Given the description of an element on the screen output the (x, y) to click on. 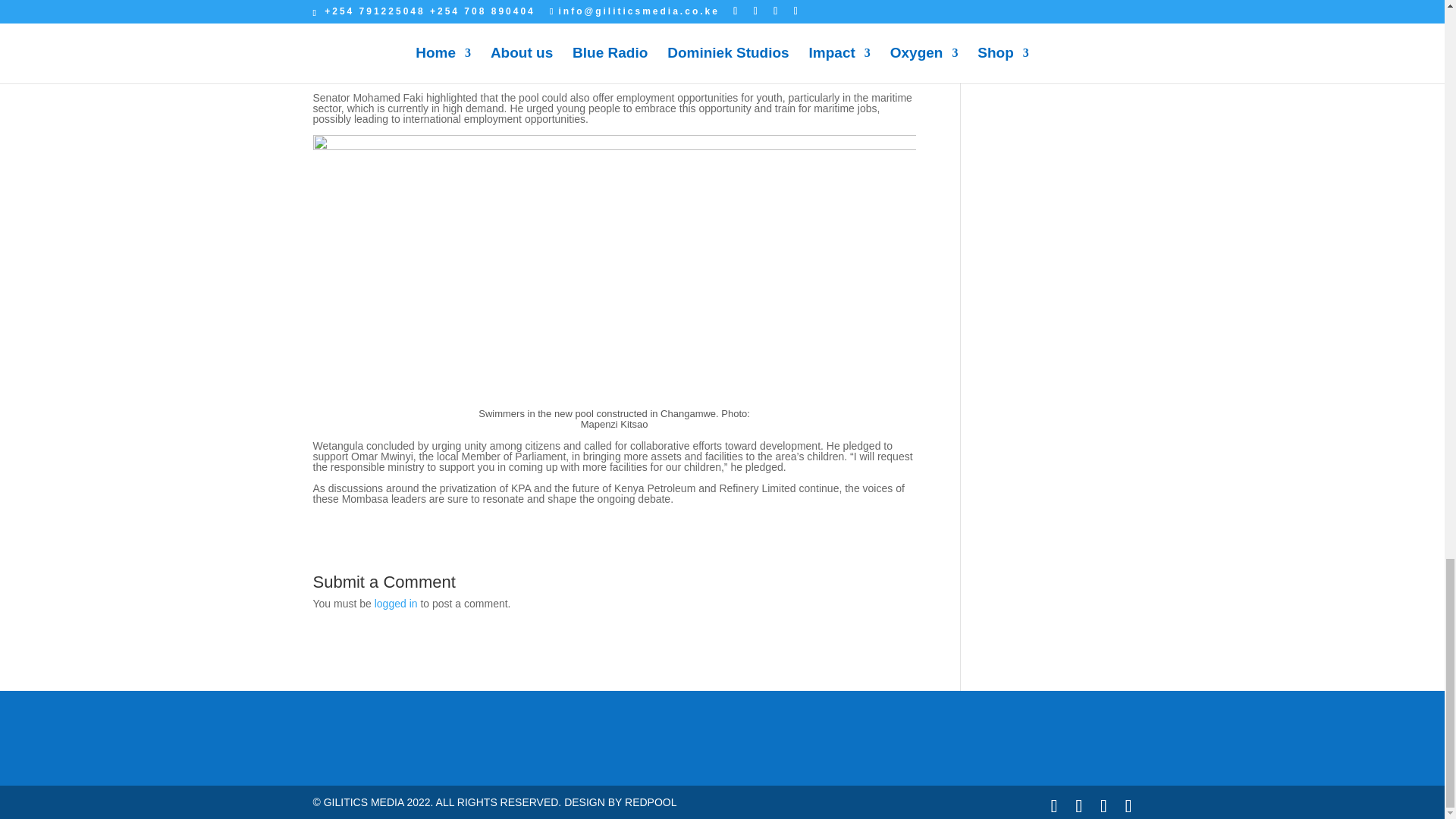
logged in (395, 603)
